Given the description of an element on the screen output the (x, y) to click on. 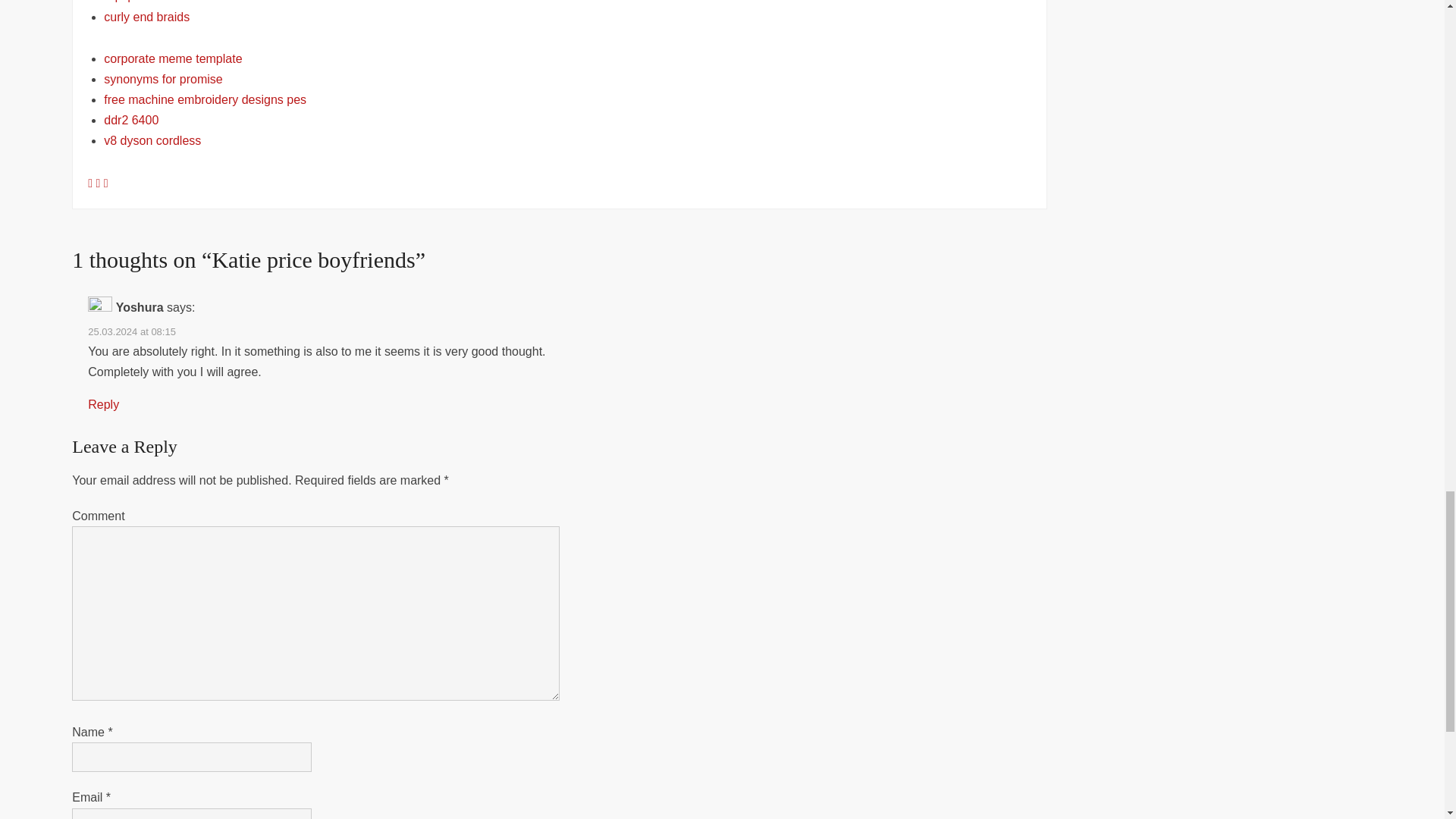
curly end braids (146, 16)
Twitter-feet9 (105, 182)
Facebook-paola suarez wild (91, 182)
synonyms for promise (162, 78)
25.03.2024 at 08:15 (131, 331)
Vkontakte-kaiture news (99, 182)
ddr2 6400 (130, 119)
v8 dyson cordless (151, 140)
aqi quebec (133, 1)
corporate meme template (172, 58)
Reply (103, 404)
free machine embroidery designs pes (204, 99)
